Given the description of an element on the screen output the (x, y) to click on. 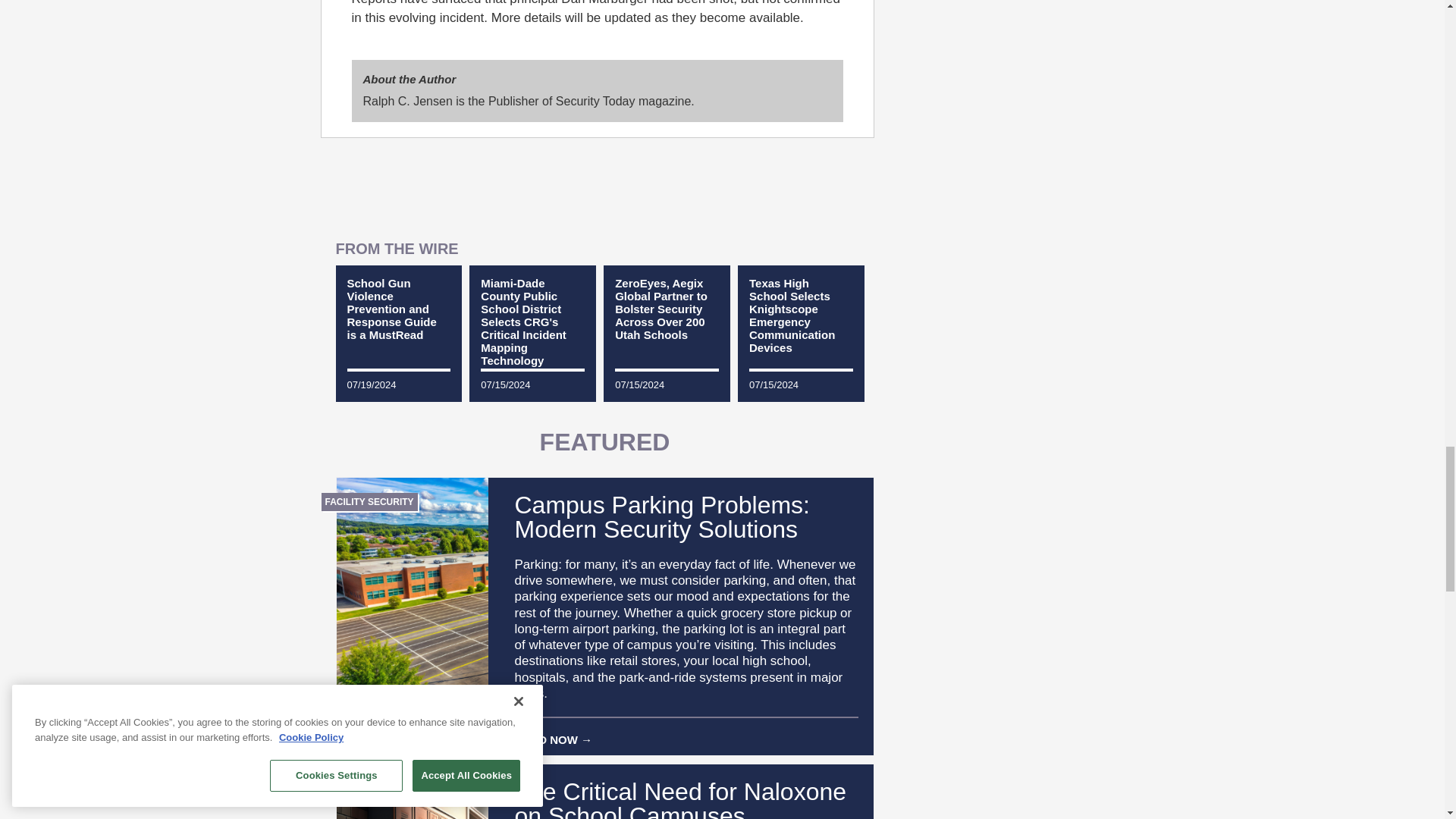
The Critical Need for Naloxone on School Campuses (597, 799)
FACILITY SECURITY (368, 501)
Campus Parking Problems: Modern Security Solutions (597, 517)
3rd party ad content (597, 187)
READ NOW (685, 731)
